Given the description of an element on the screen output the (x, y) to click on. 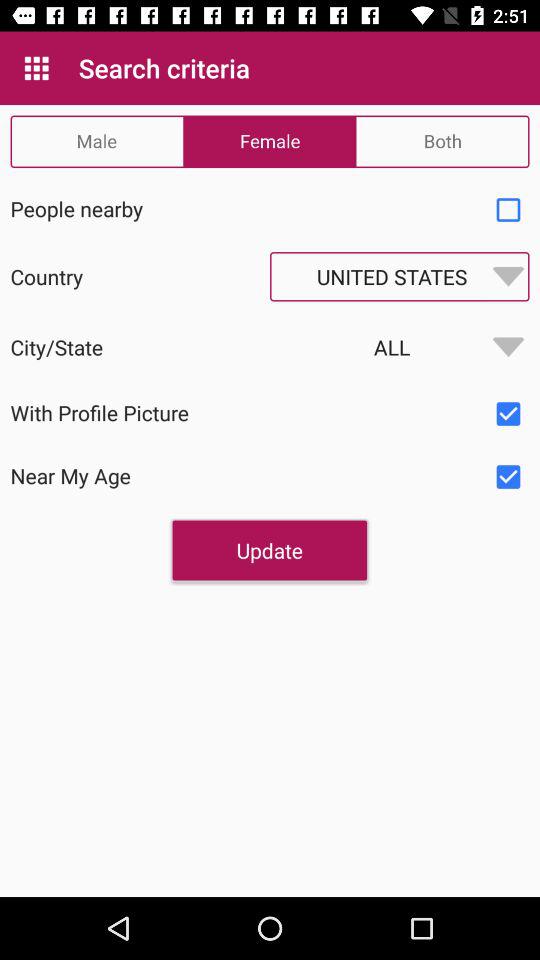
click the update item (269, 549)
